Given the description of an element on the screen output the (x, y) to click on. 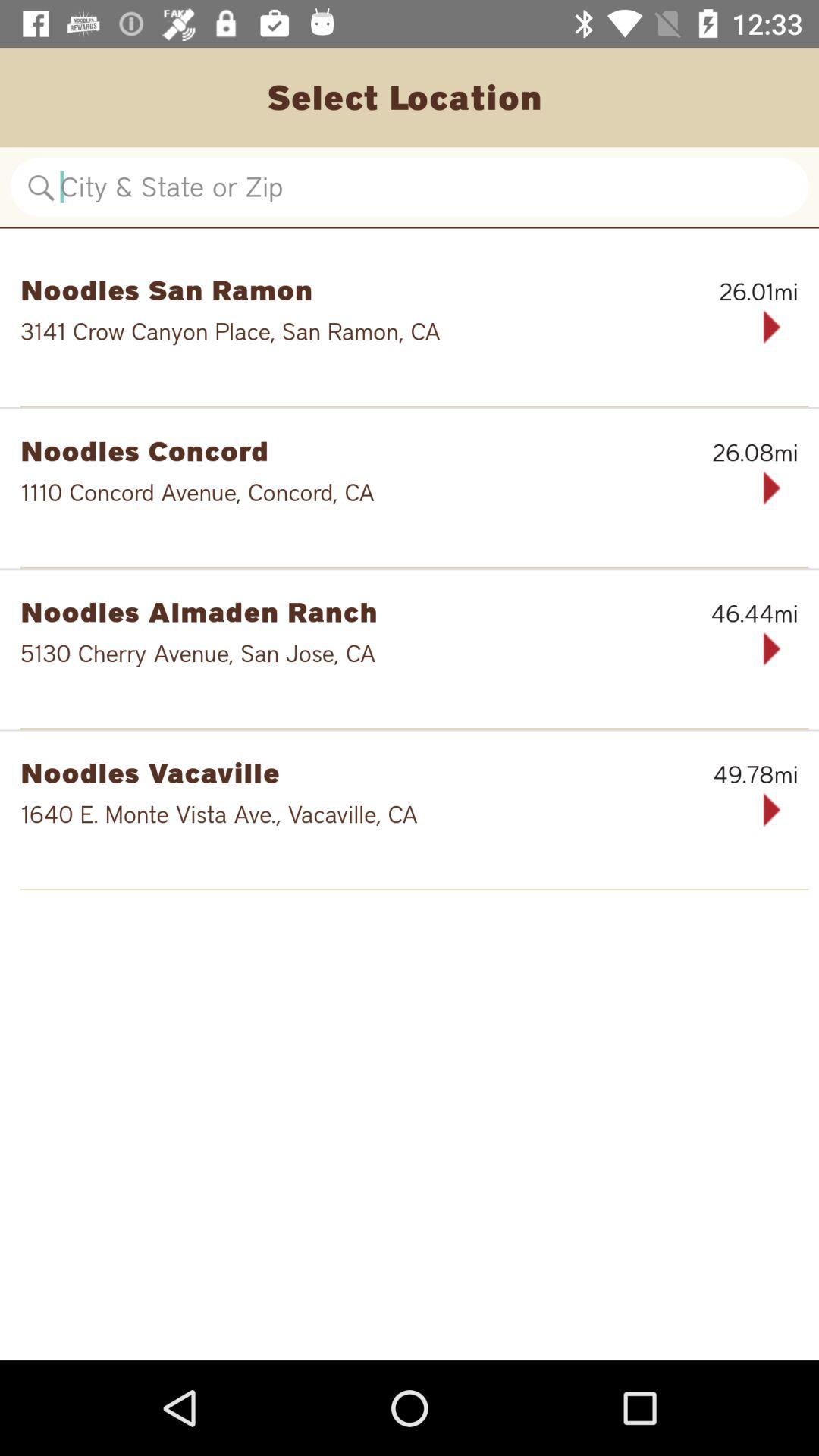
click icon below the noodles concord (361, 492)
